Given the description of an element on the screen output the (x, y) to click on. 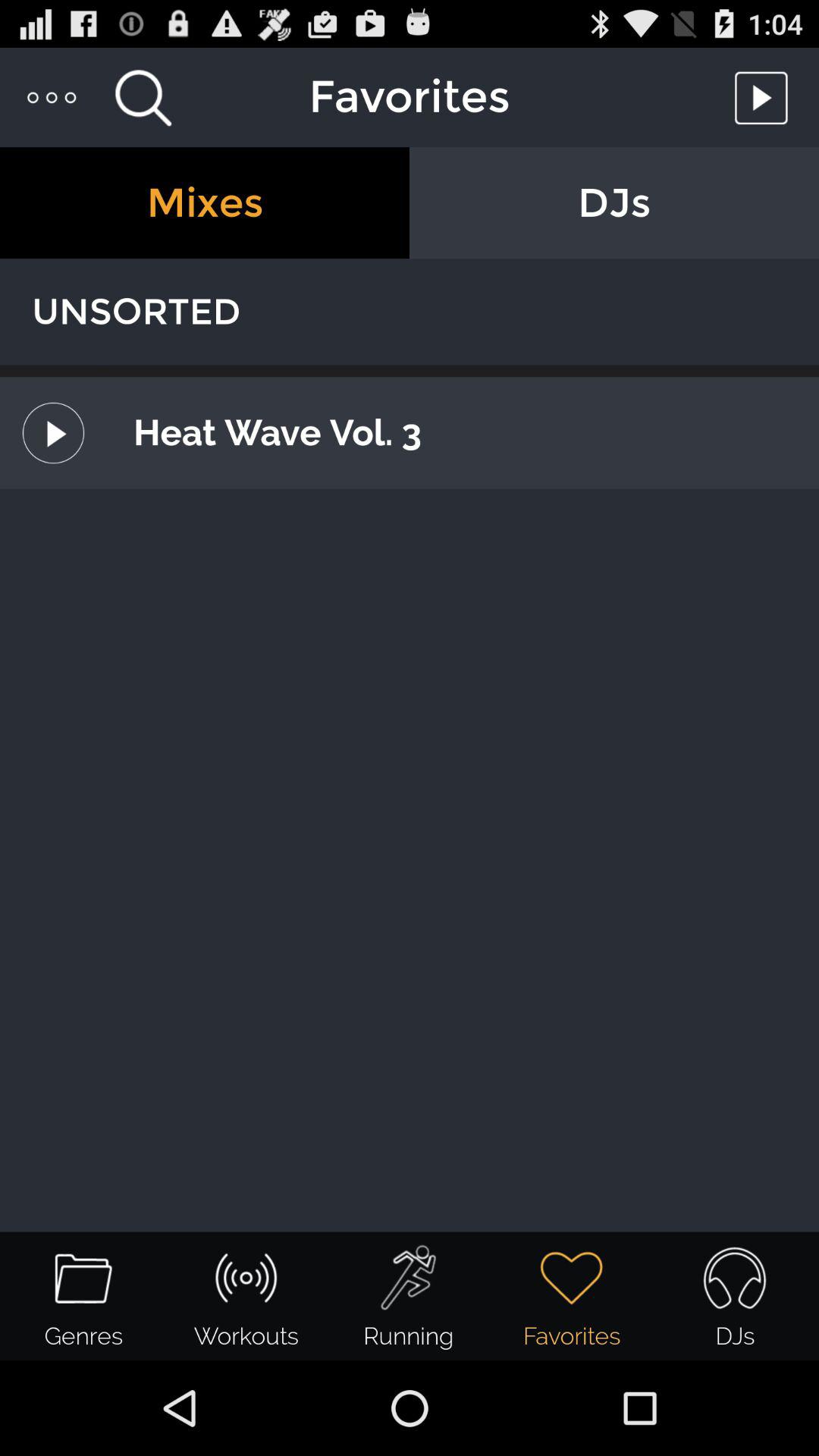
turn off item above the mixes icon (52, 97)
